Given the description of an element on the screen output the (x, y) to click on. 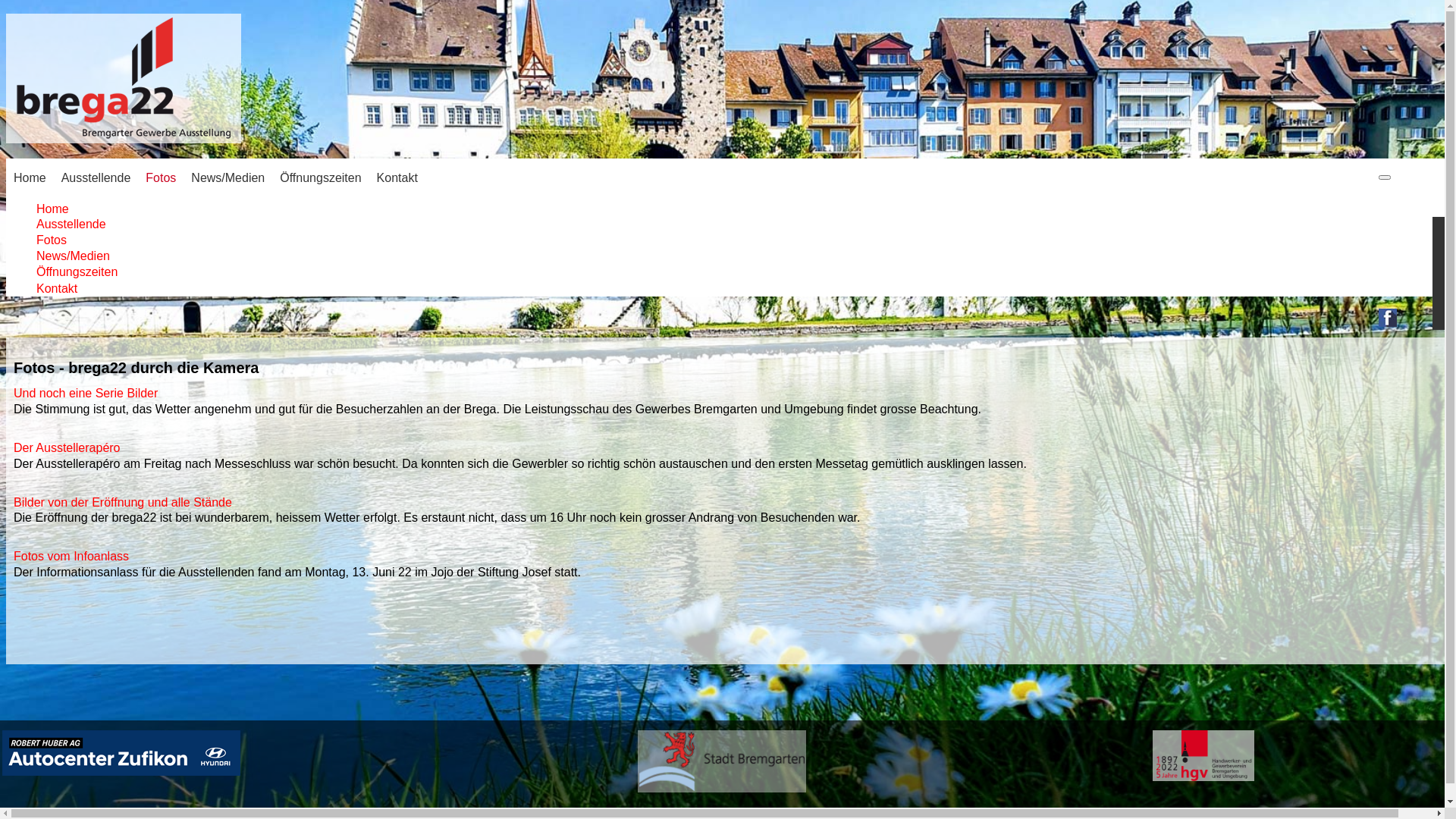
facebook-icon Element type: hover (1387, 317)
Robert Huber AG - Autocenter Zufikon - HYUNDAI Element type: hover (121, 752)
Ausstellende Element type: text (71, 223)
Stadt Bremgarten Element type: hover (721, 761)
Kontakt Element type: text (56, 288)
Stadt Bremgarten Element type: hover (721, 787)
Fotos vom Infoanlass Element type: text (70, 555)
Home Element type: text (52, 208)
Handwerker- und Gewerbeverein Bremgarten Element type: hover (1203, 776)
Robert Huber AG - Autocenter Zufikon - HYUNDAI Element type: hover (121, 771)
brega21 auf Facebook Element type: hover (1387, 322)
Kontakt Element type: text (404, 176)
Ausstellende Element type: text (103, 176)
Startseite von brega21 - Gewerbeausstellung Bremgarten Element type: hover (123, 134)
News/Medien Element type: text (235, 176)
Und noch eine Serie Bilder Element type: text (85, 392)
Home Element type: text (37, 176)
Fotos Element type: text (51, 239)
Brega, Gewerbeausstellung 2021 in Bremgarten - Logo Element type: hover (123, 77)
News/Medien Element type: text (72, 255)
Fotos Element type: text (168, 176)
Logo HGV Element type: hover (1203, 755)
